Given the description of an element on the screen output the (x, y) to click on. 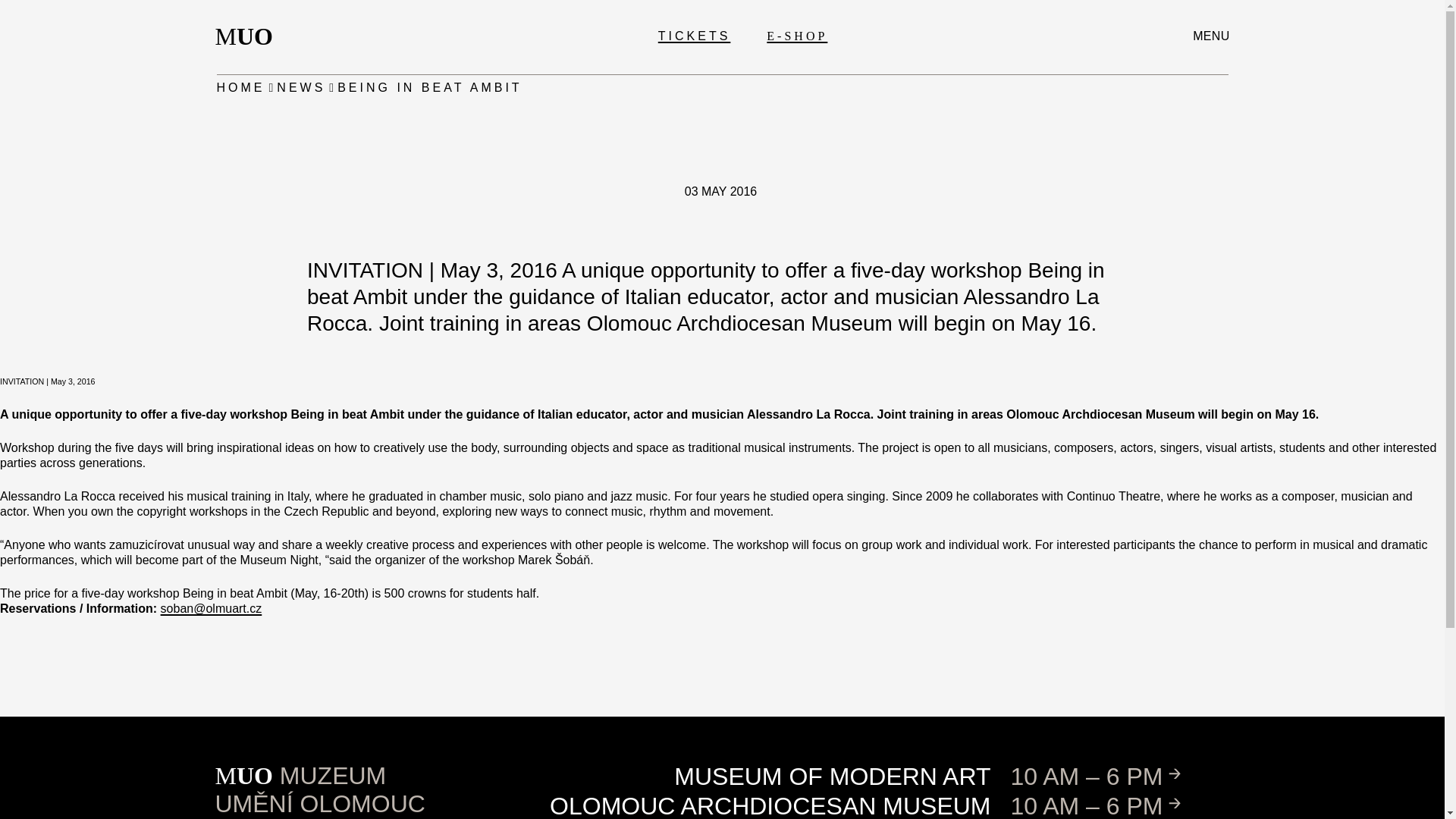
MENU (1210, 35)
TICKETS (694, 35)
HOME (240, 88)
OLOMOUC ARCHDIOCESAN MUSEUM (769, 805)
NEWS (300, 88)
E-SHOP (797, 35)
MUSEUM OF MODERN ART (248, 36)
